Given the description of an element on the screen output the (x, y) to click on. 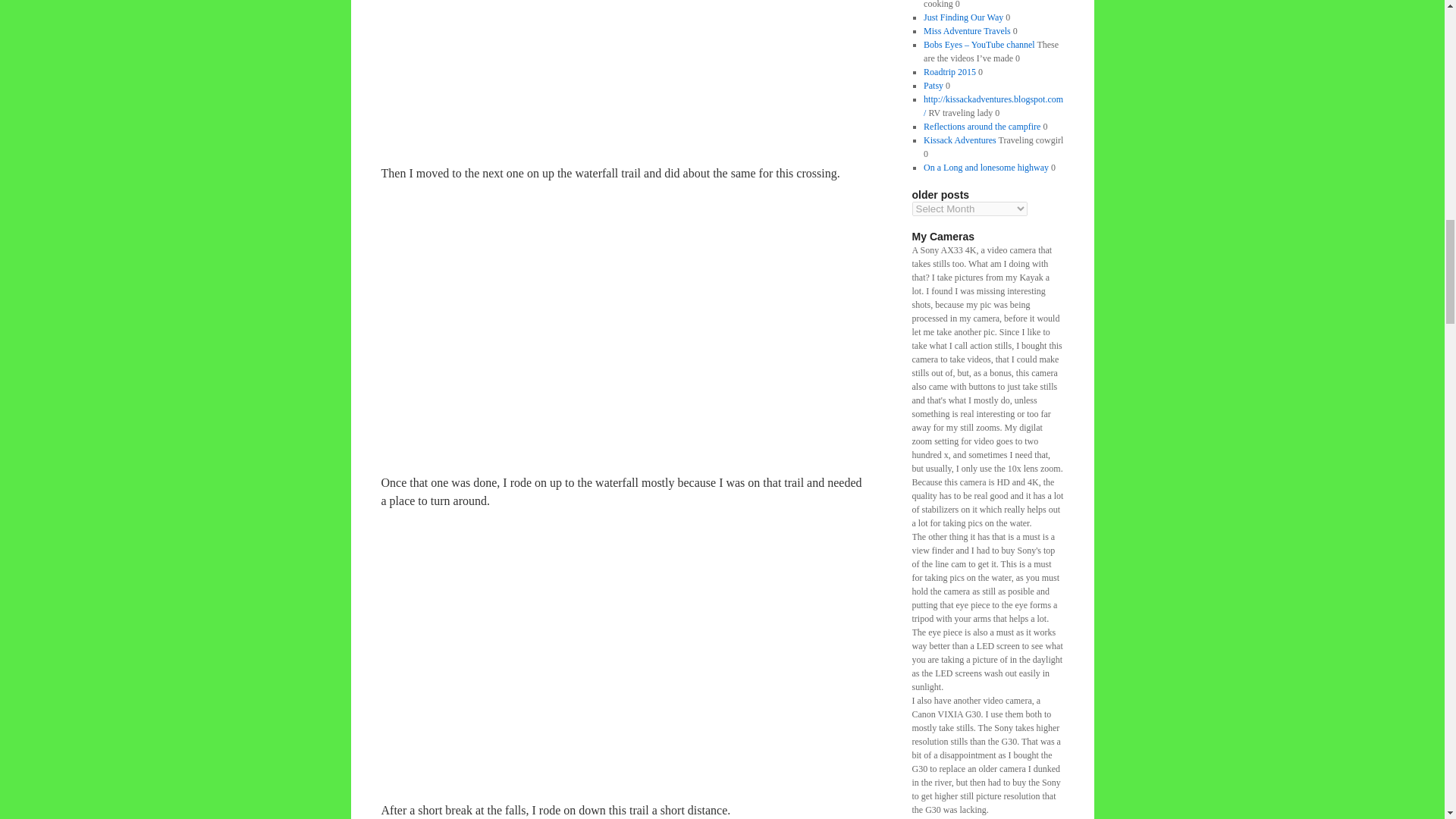
crossing4 (612, 316)
falls5 (612, 644)
mulched3 (612, 70)
